Given the description of an element on the screen output the (x, y) to click on. 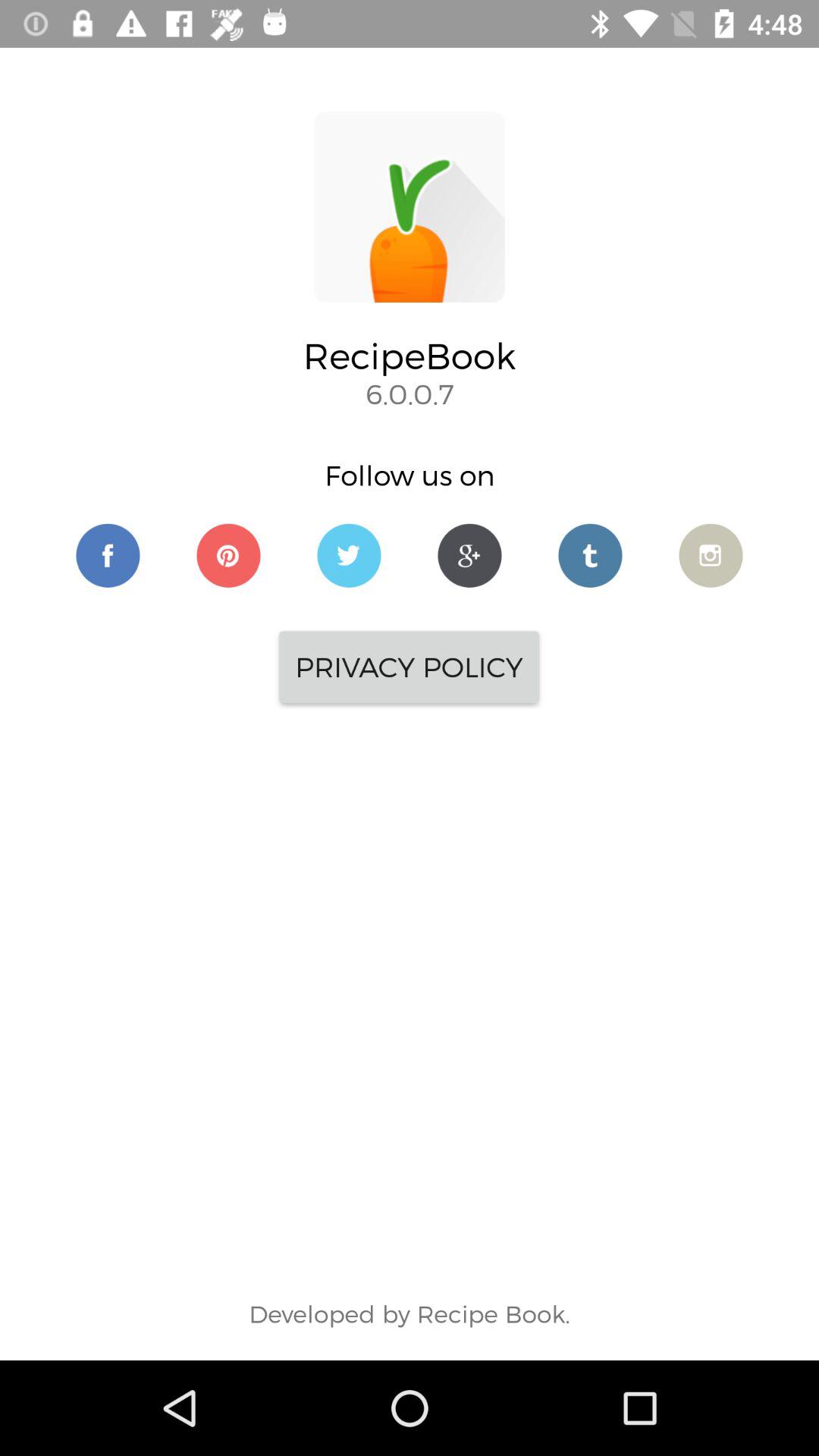
a place to access google+ (469, 555)
